Given the description of an element on the screen output the (x, y) to click on. 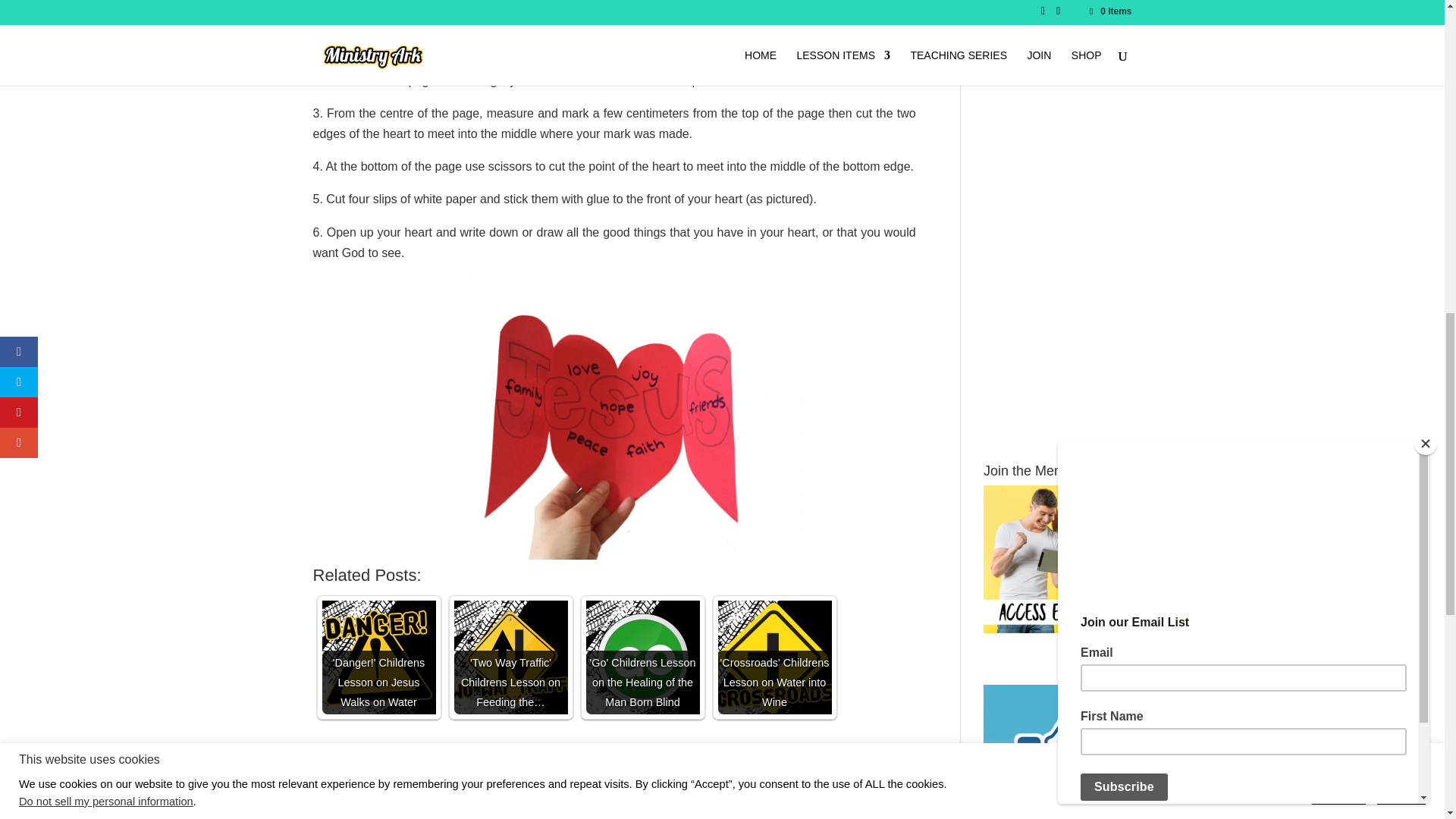
'Danger!' Childrens Lesson on Jesus Walks on Water (378, 657)
'Go' Childrens Lesson on the Healing of the Man Born Blind (641, 657)
'Danger!' Childrens Lesson on Jesus Walks on Water (378, 657)
'Crossroads' Childrens Lesson on Water into Wine (774, 657)
